Given the description of an element on the screen output the (x, y) to click on. 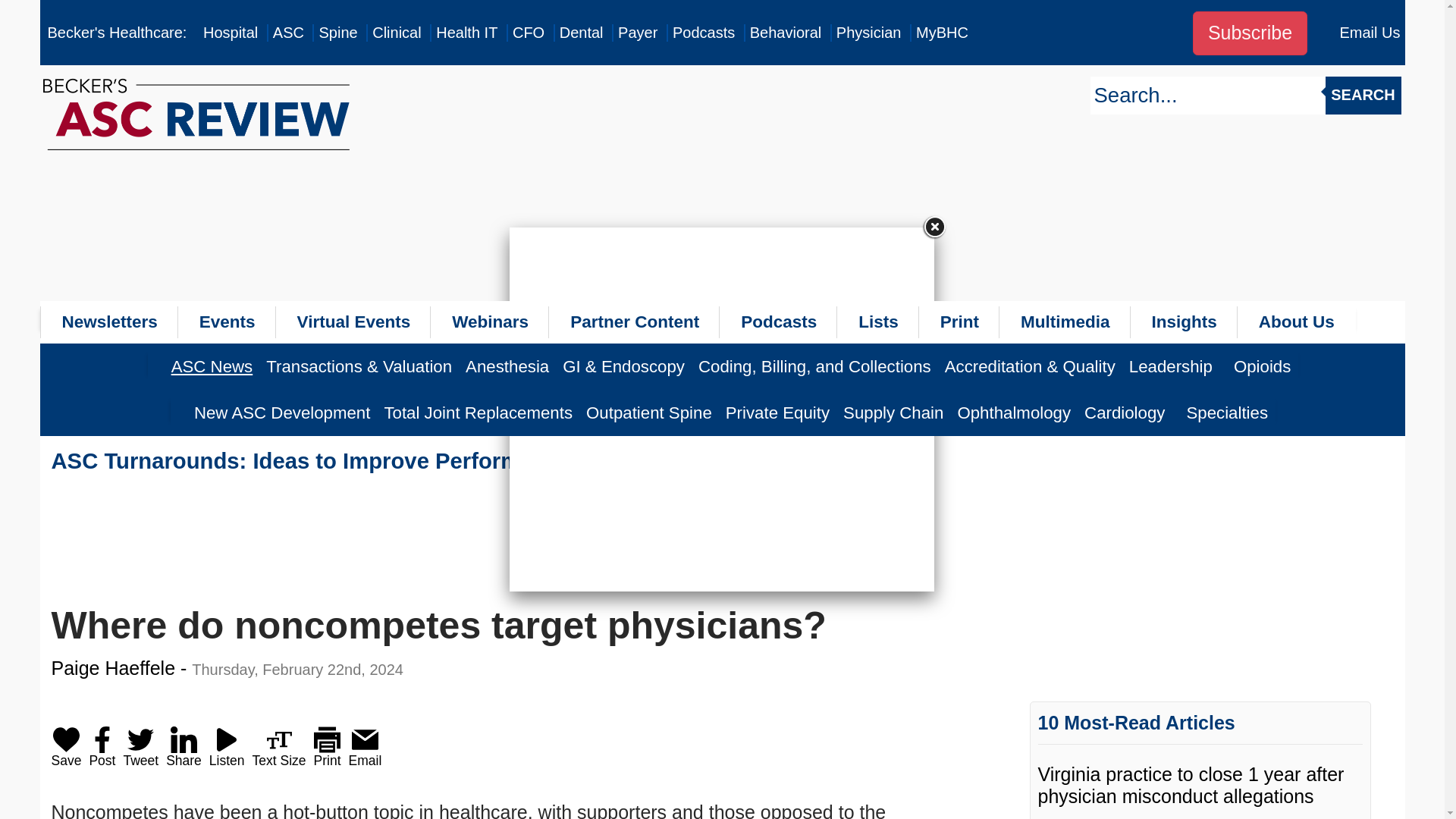
CFO (528, 32)
Physician (868, 32)
Becker's ASC Review (288, 32)
Email Us (1369, 32)
Behavioral (785, 32)
Physician (868, 32)
MyBHC (941, 32)
Clinical (396, 32)
Payer (637, 32)
Becker's Behavioral Health (785, 32)
Podcasts (703, 32)
ASC (288, 32)
Health IT (466, 32)
Becker's Podcasts (703, 32)
Becker's Hospital Review (230, 32)
